Given the description of an element on the screen output the (x, y) to click on. 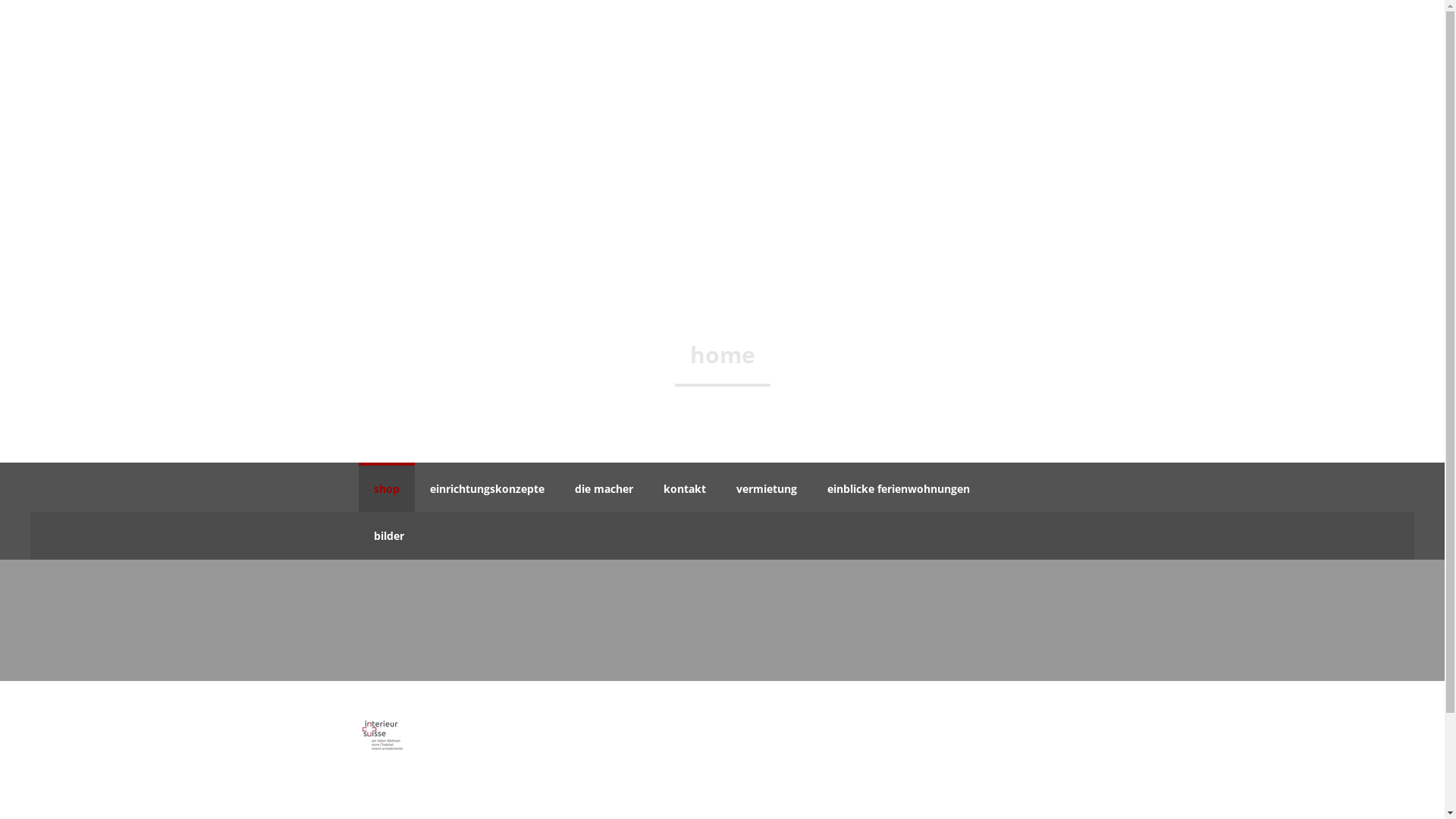
einblicke ferienwohnungen Element type: text (897, 486)
einrichtungskonzepte Element type: text (486, 486)
home Element type: text (722, 356)
bilder Element type: text (387, 535)
die macher Element type: text (603, 486)
kontakt Element type: text (683, 486)
shop Element type: text (385, 486)
vermietung Element type: text (765, 486)
